Given the description of an element on the screen output the (x, y) to click on. 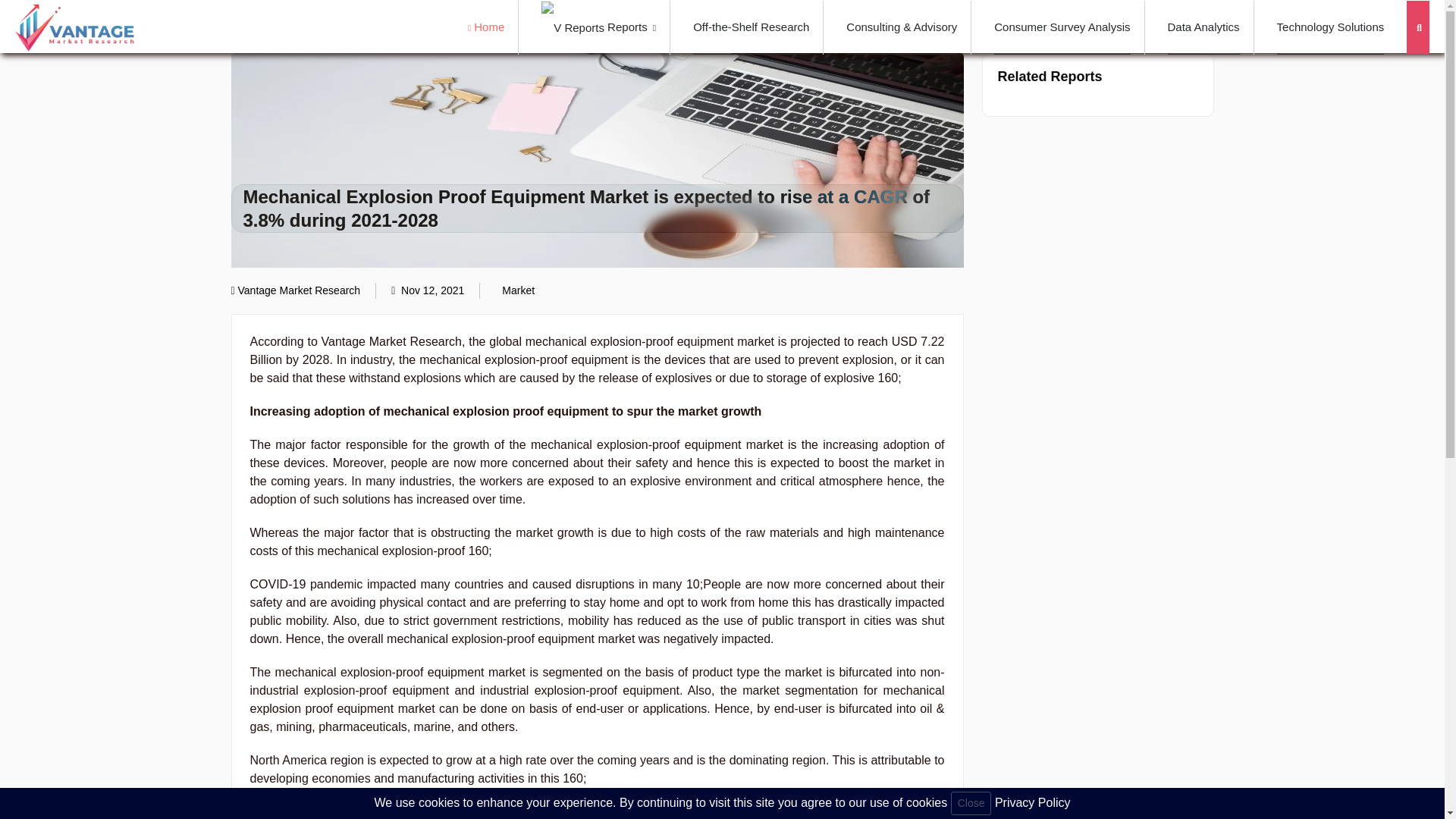
Data Analytics (1203, 27)
Technology Solutions (1330, 27)
Consumer Survey Analysis (1061, 27)
Reports (598, 27)
Off-the-Shelf Research (751, 27)
